Given the description of an element on the screen output the (x, y) to click on. 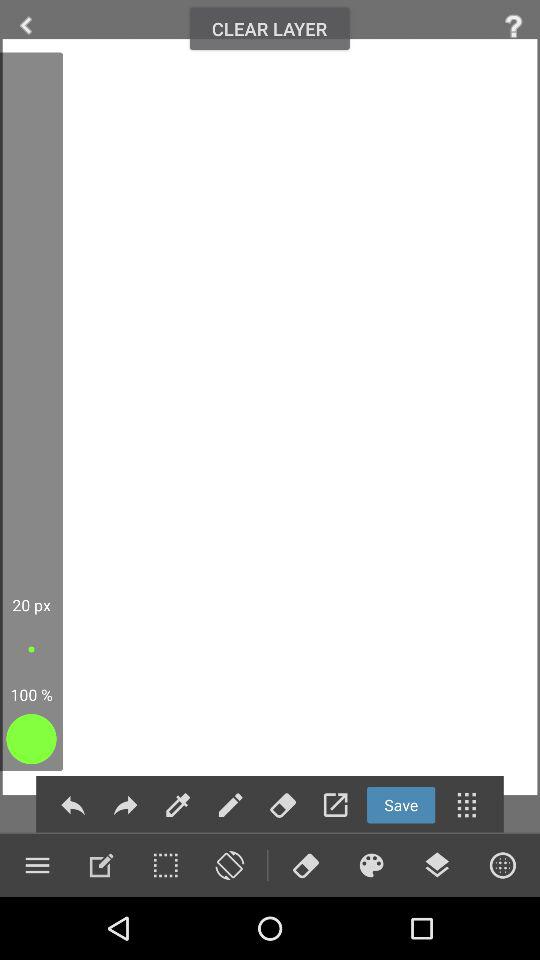
open menu (466, 804)
